Given the description of an element on the screen output the (x, y) to click on. 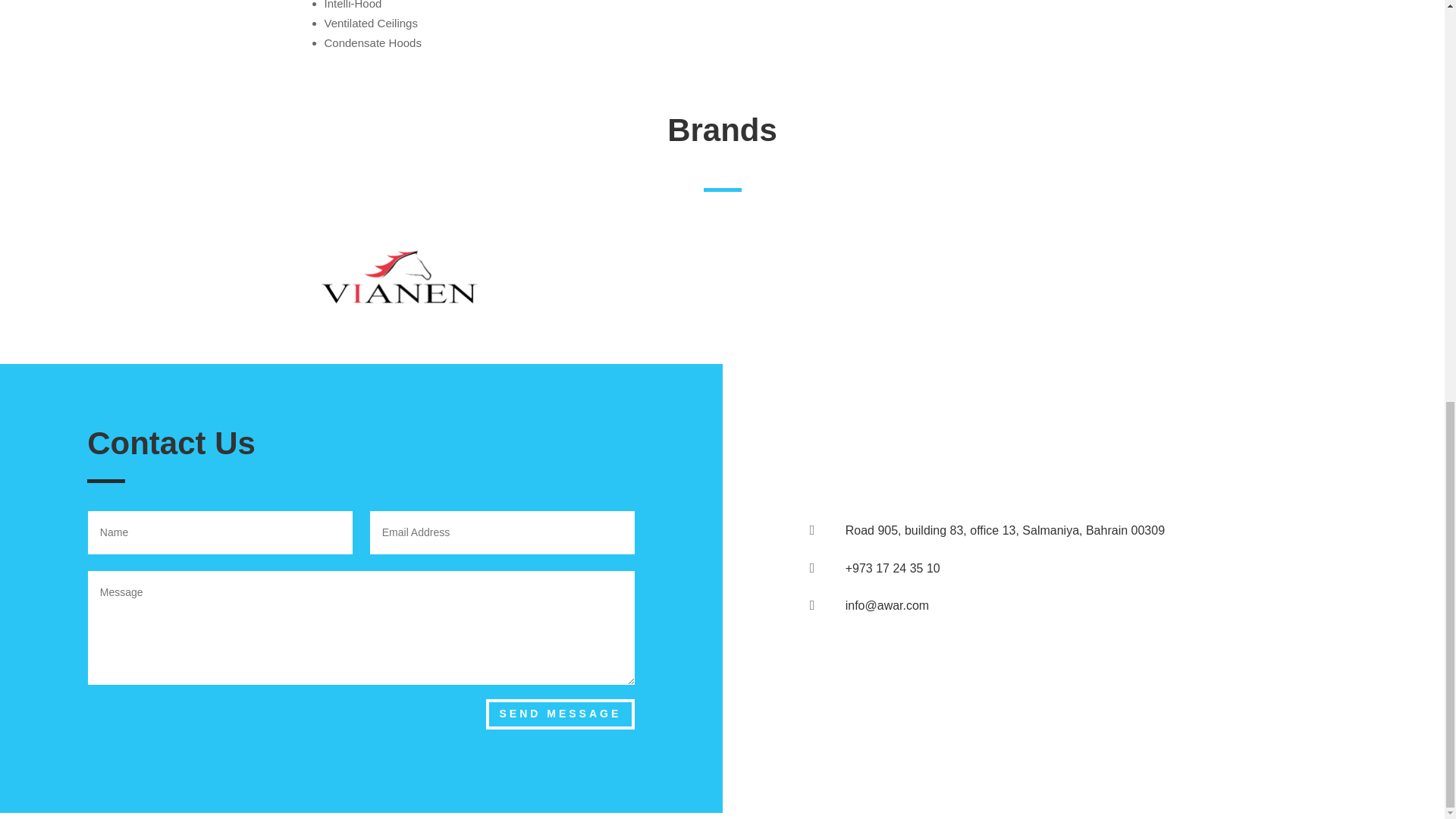
SEND MESSAGE (559, 714)
